Given the description of an element on the screen output the (x, y) to click on. 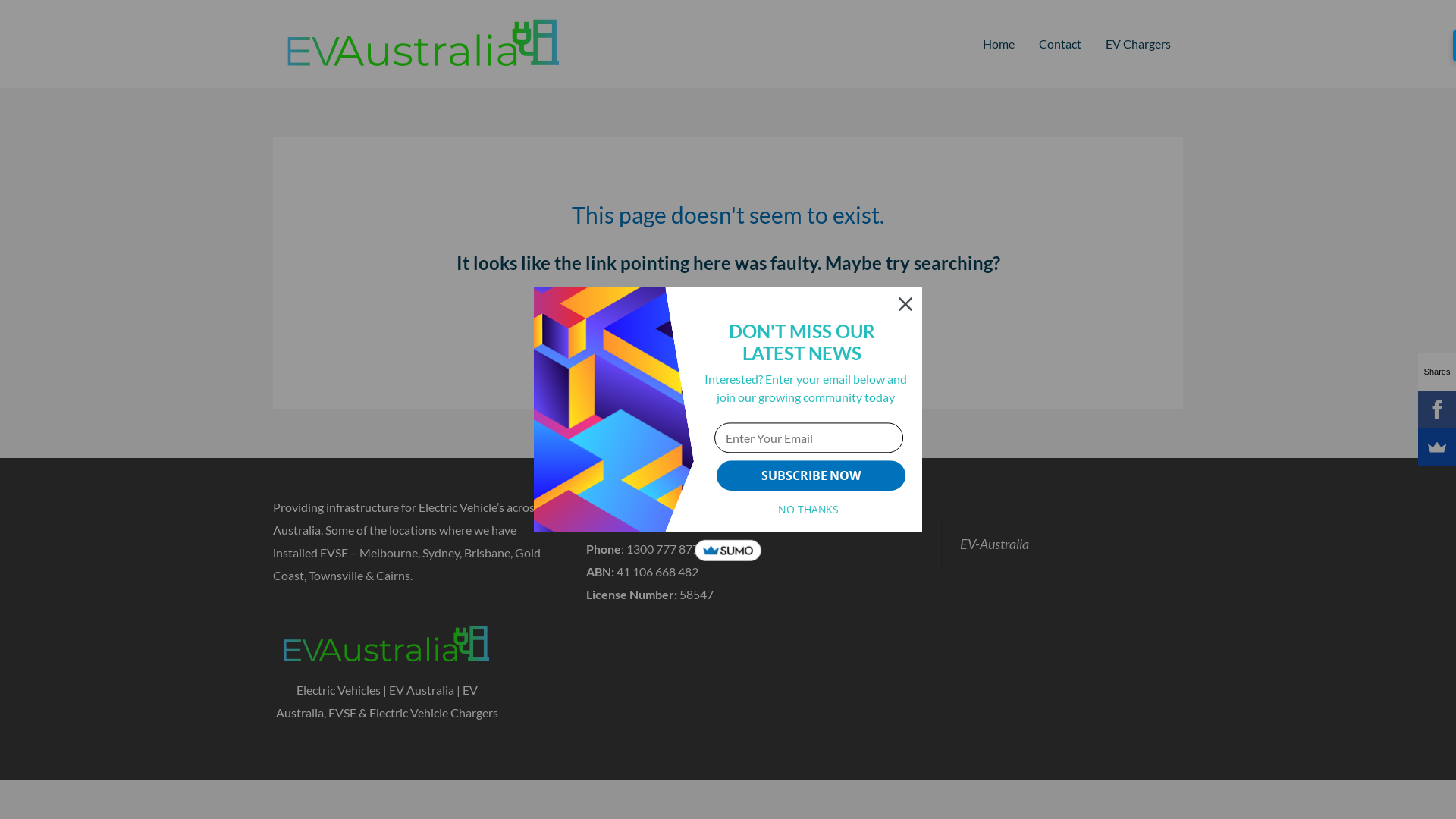
EV Chargers Element type: text (1138, 43)
EV-Australia Element type: text (994, 544)
Search Element type: text (851, 324)
SUBSCRIBE NOW Element type: text (811, 475)
Home Element type: text (998, 43)
Contact Element type: text (1059, 43)
NO THANKS Element type: text (808, 508)
